Given the description of an element on the screen output the (x, y) to click on. 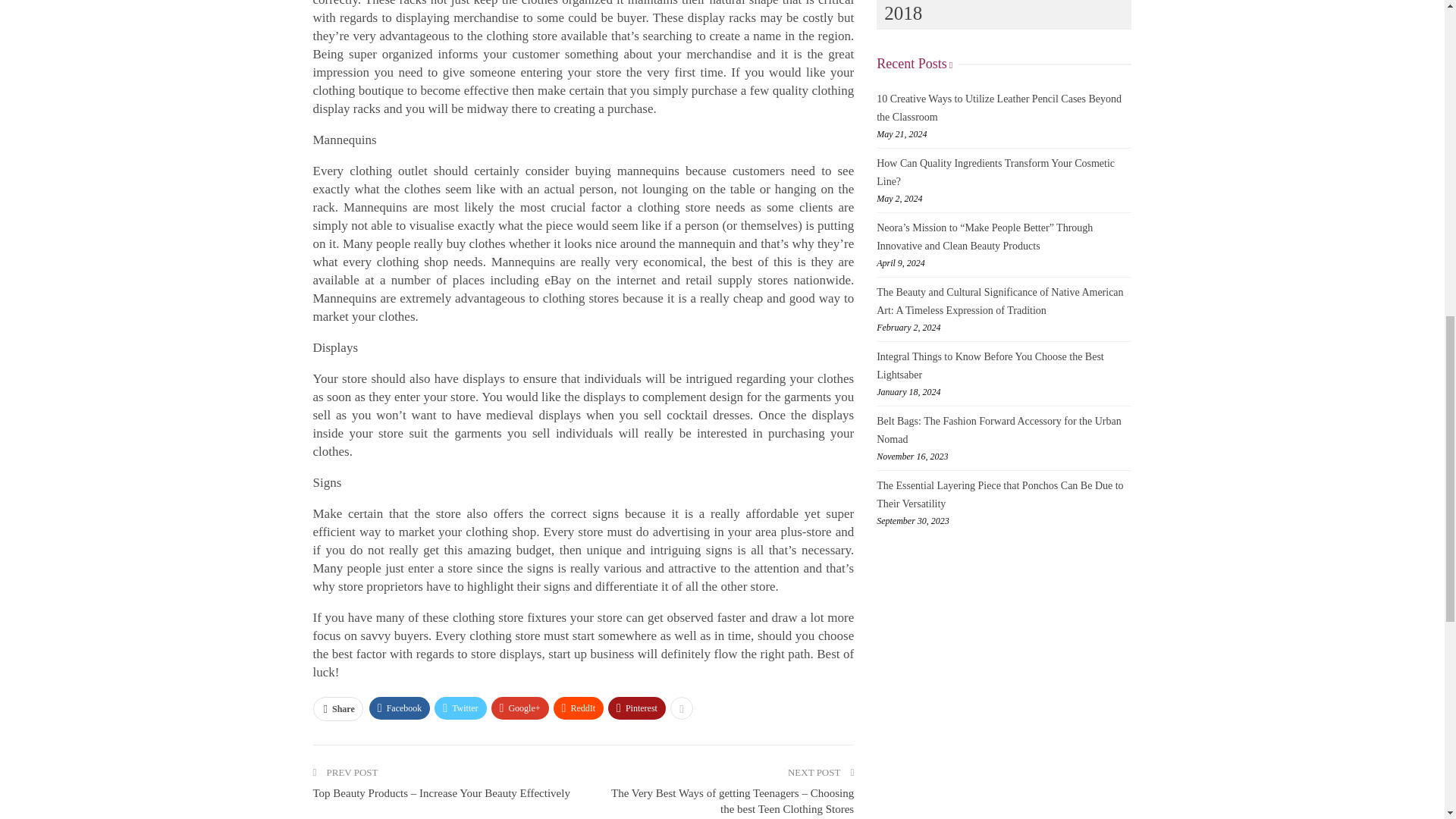
Facebook (399, 707)
Pinterest (636, 707)
ReddIt (578, 707)
Twitter (459, 707)
